Given the description of an element on the screen output the (x, y) to click on. 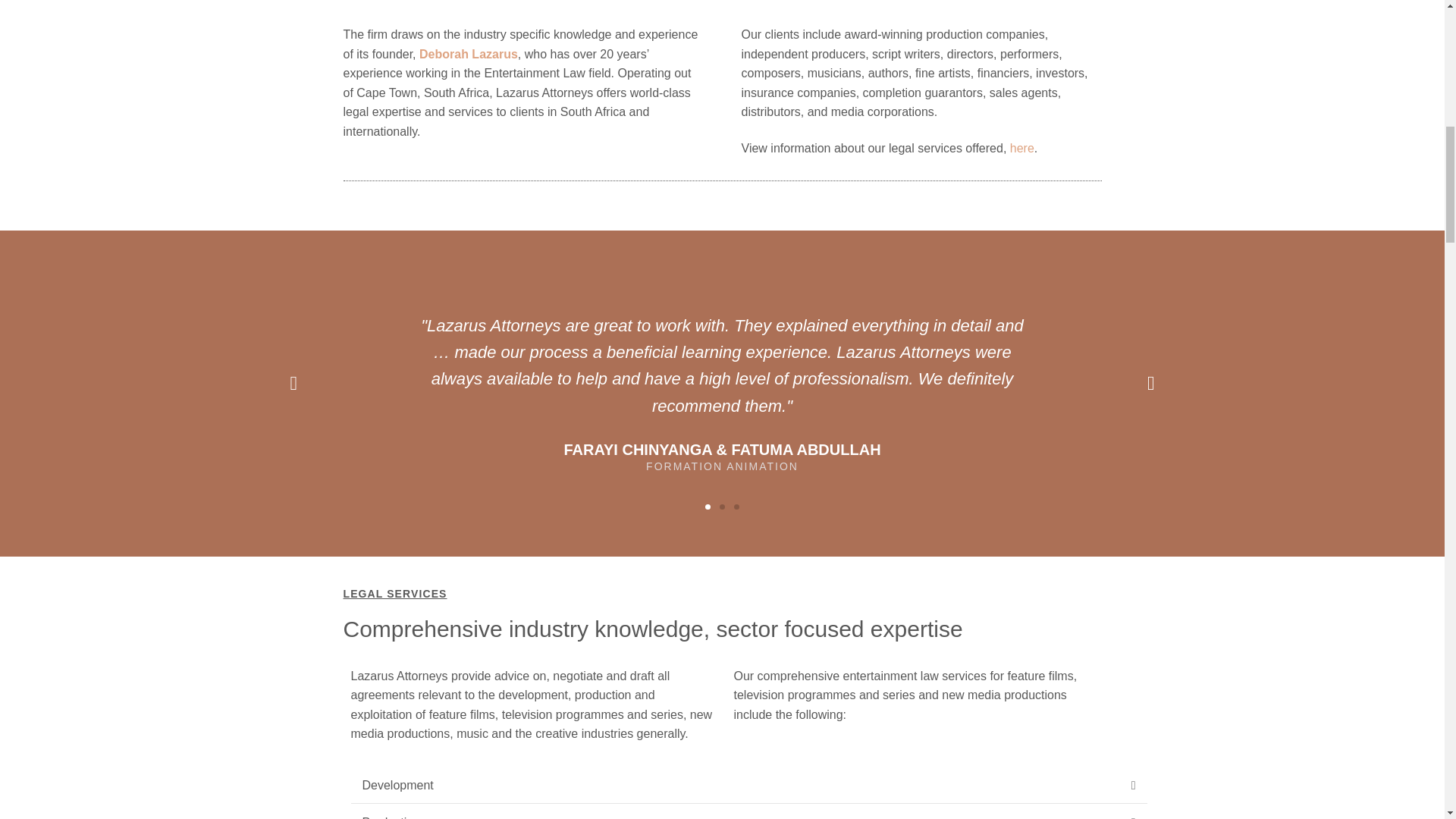
here (1021, 147)
Deborah Lazarus (468, 53)
Production (391, 817)
Development (397, 784)
